Given the description of an element on the screen output the (x, y) to click on. 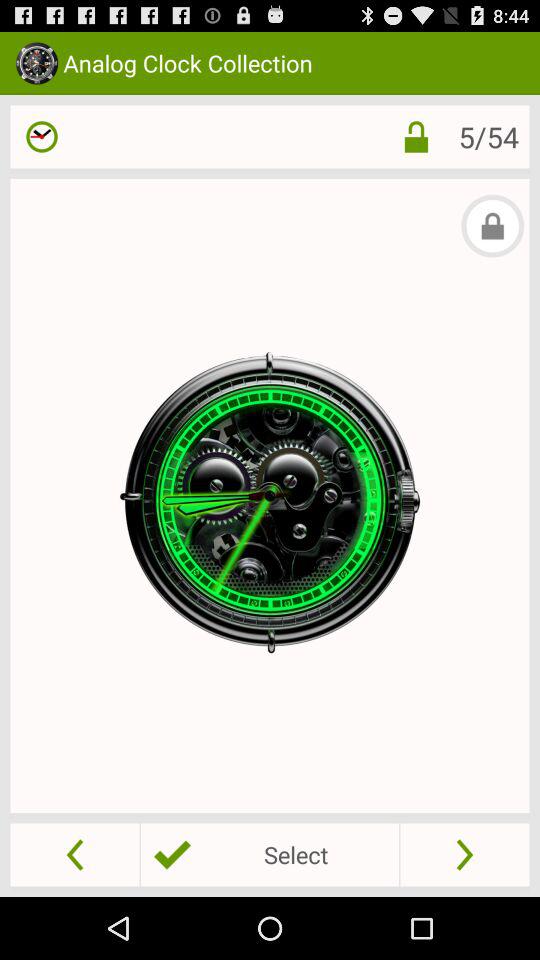
go forward (464, 854)
